Given the description of an element on the screen output the (x, y) to click on. 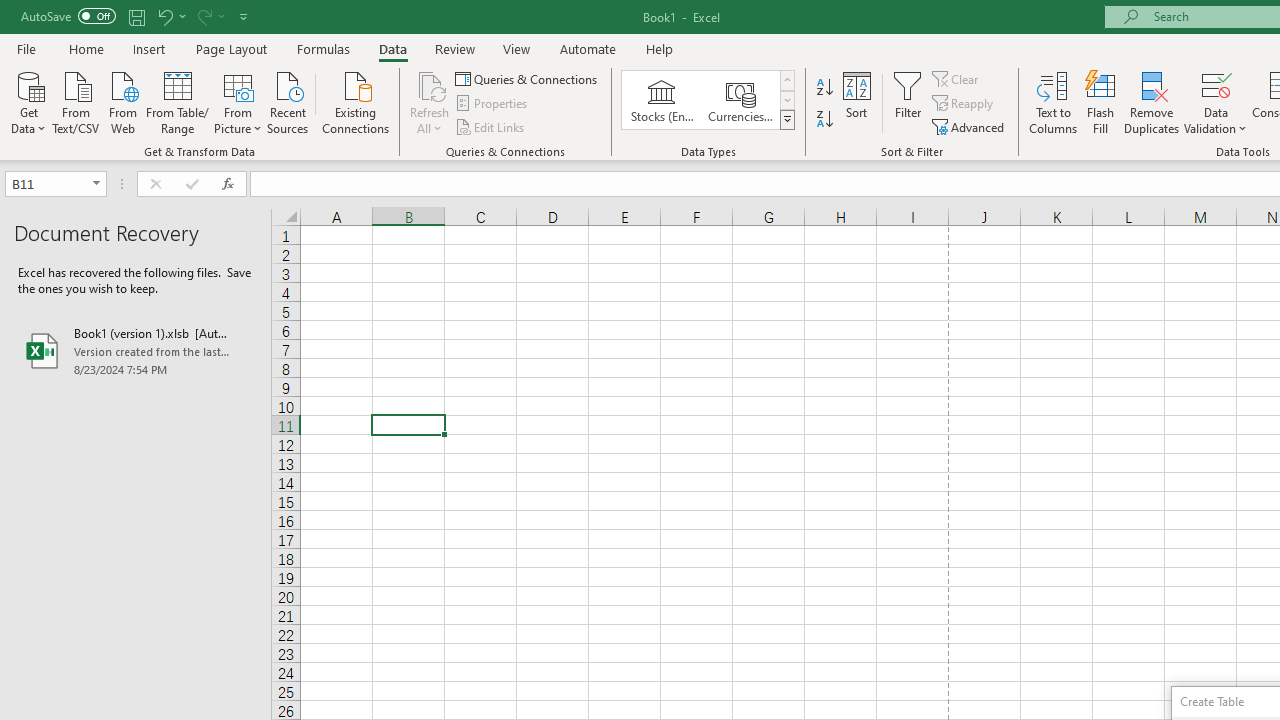
AutoSave (68, 16)
Currencies (English) (740, 100)
Undo (164, 15)
Row up (786, 79)
System (10, 11)
Recent Sources (287, 101)
Stocks (English) (662, 100)
Remove Duplicates (1151, 102)
Row Down (786, 100)
Flash Fill (1101, 102)
Sort Z to A (824, 119)
Data (392, 48)
